Given the description of an element on the screen output the (x, y) to click on. 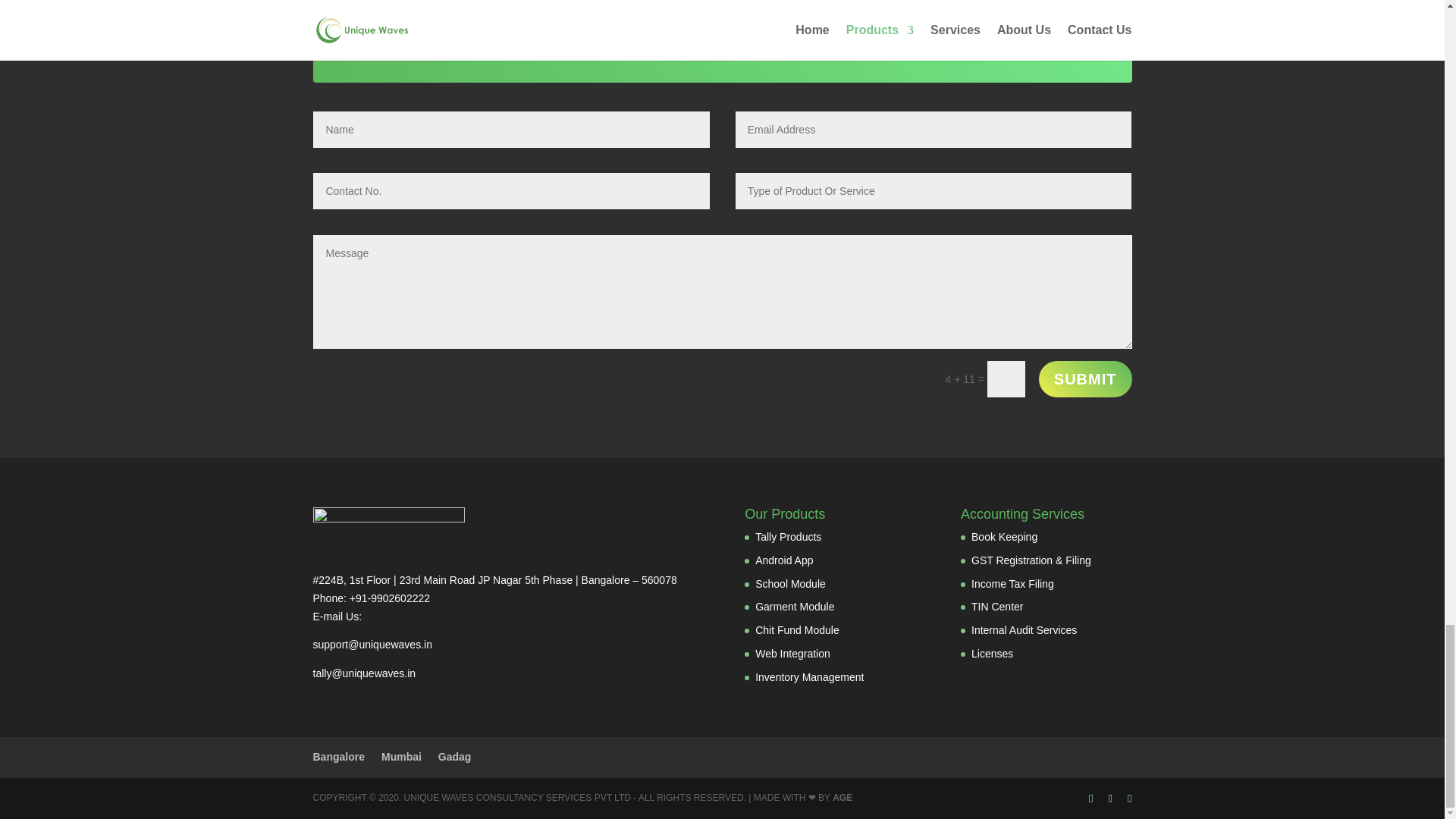
Only numbers allowed. (511, 190)
Chit Fund Module (797, 630)
SUBMIT (1085, 379)
SIGN UP TODAY (1035, 28)
Web Integration (792, 653)
Inventory Management (809, 676)
Android App (783, 560)
School Module (790, 583)
Tally Products (788, 536)
Garment Module (794, 606)
